Given the description of an element on the screen output the (x, y) to click on. 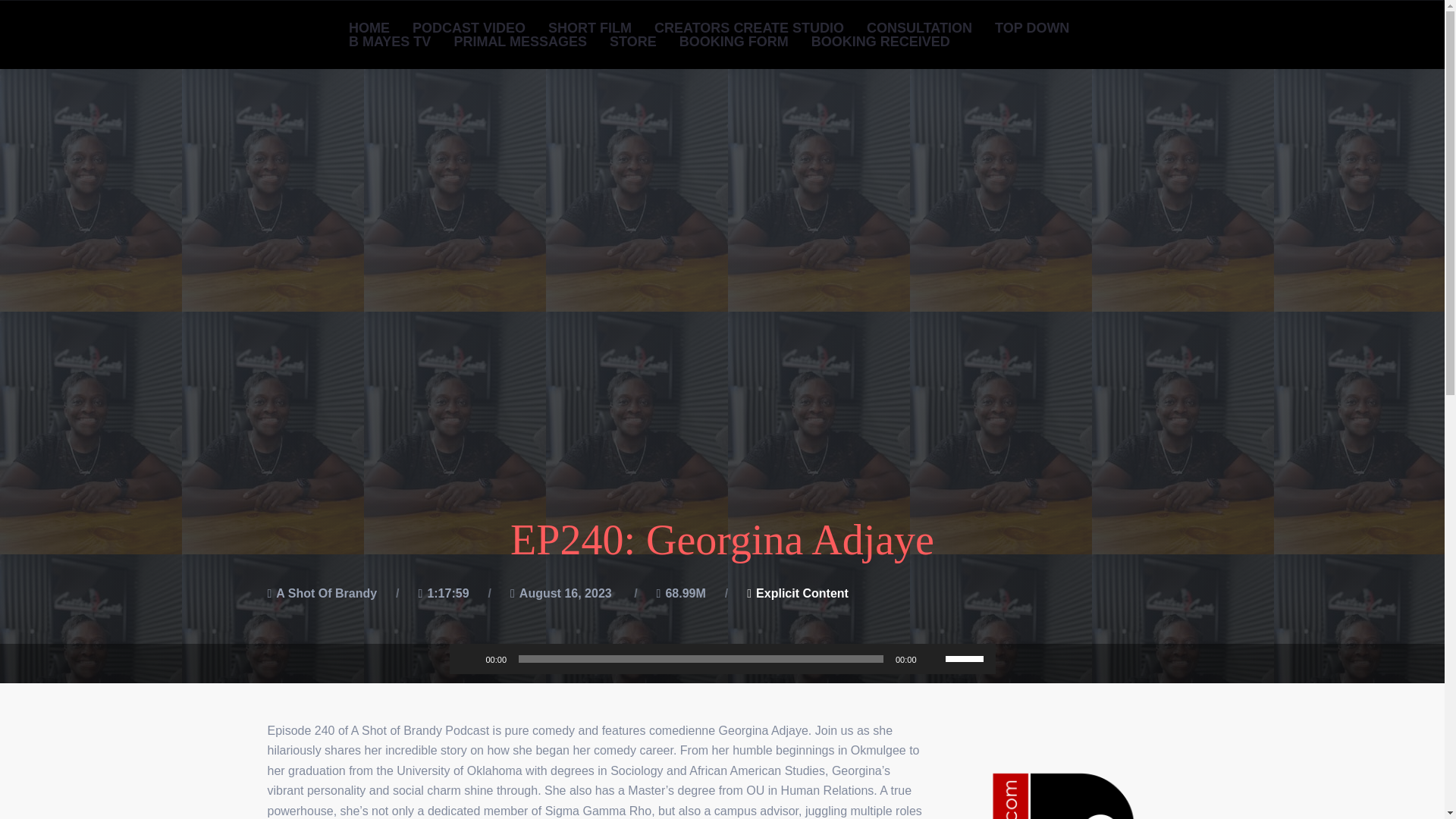
STORE (633, 41)
PRIMAL MESSAGES (520, 41)
PODCAST VIDEO (469, 27)
BOOKING FORM (733, 41)
A Shot Of Brandy (326, 593)
B MAYES TV (389, 41)
SHORT FILM (590, 27)
HOME (369, 27)
TOP DOWN (1032, 27)
CONSULTATION (920, 27)
CREATORS CREATE STUDIO (749, 27)
Play (468, 658)
BOOKING RECEIVED (879, 41)
Mute (932, 658)
